Given the description of an element on the screen output the (x, y) to click on. 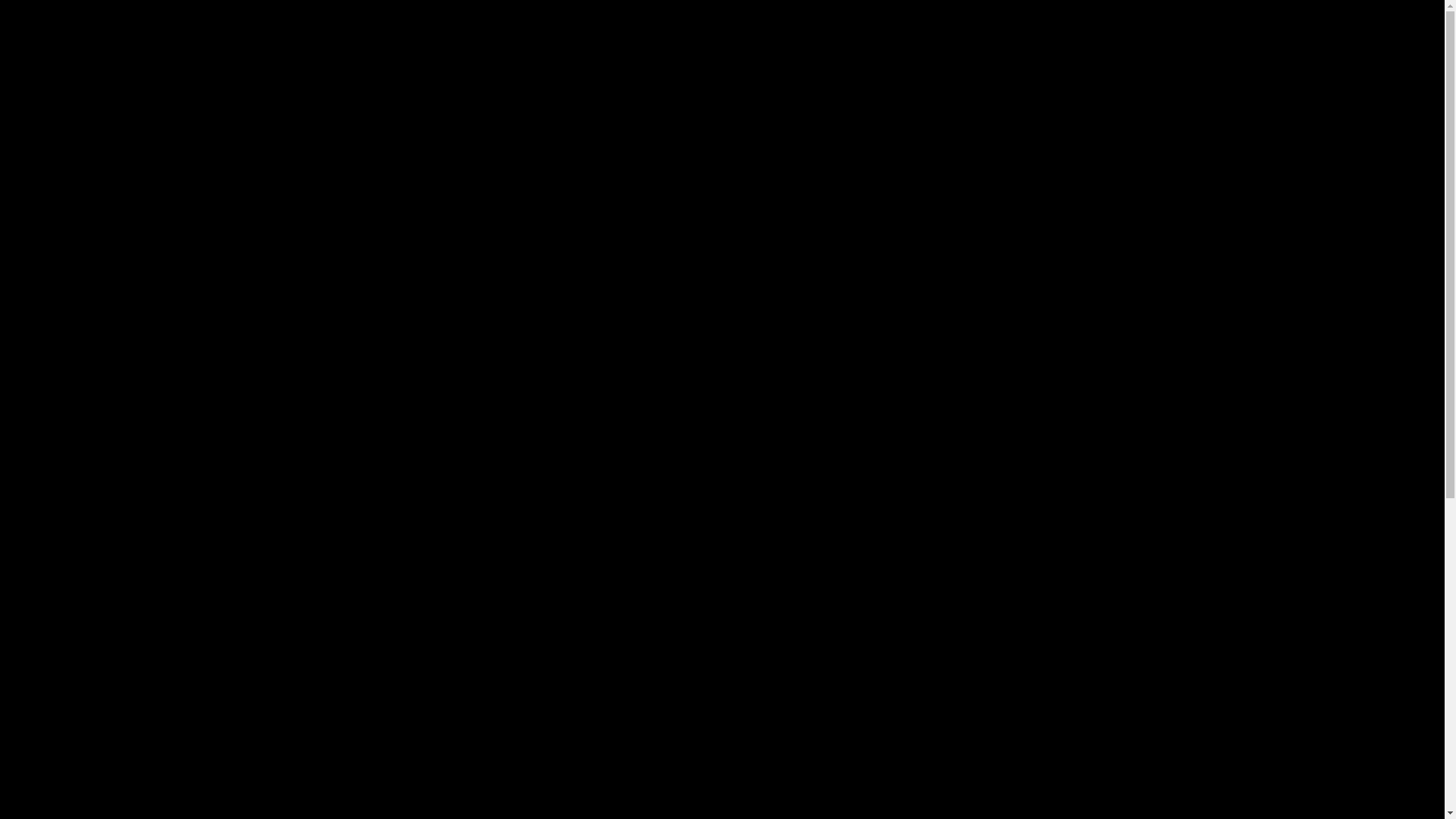
3020 Laguna St. In Exitum behind the scenes Element type: hover (480, 506)
3020 Laguna St. In Exitum behind the scenes Element type: hover (481, 506)
screenings Element type: text (814, 141)
3020 Laguna St. In Exitum behind the scenes Element type: hover (963, 340)
3020 Laguna St. In Exitum behind the scenes Element type: hover (480, 672)
Behind the Scenes Element type: text (766, 236)
3020 Laguna St. In Exitum behind the scenes Element type: hover (721, 672)
filmmakers Element type: text (569, 141)
3020 Laguna St. In Exitum Element type: text (722, 64)
3020 Laguna St. In Exitum behind the scenes Element type: hover (963, 672)
3020 Laguna St. In Exitum behind the scenes Element type: hover (721, 340)
3020 Laguna St. In Exitum behind the scenes Element type: hover (722, 672)
3020 Laguna St. In Exitum behind the scenes Element type: hover (721, 506)
Film Stills Element type: text (659, 236)
3020 Laguna St. In Exitum behind the scenes Element type: hover (480, 340)
3020 Laguna St. In Exitum behind the scenes Element type: hover (481, 672)
3020 Laguna St. In Exitum behind the scenes Element type: hover (963, 340)
press Element type: text (732, 141)
3020 Laguna St. In Exitum behind the scenes Element type: hover (481, 340)
about the film Element type: text (453, 141)
3020 Laguna St. In Exitum behind the scenes Element type: hover (963, 506)
3020 Laguna St. In Exitum behind the scenes Element type: hover (963, 672)
about the installation Element type: text (960, 141)
3020 Laguna St. In Exitum behind the scenes Element type: hover (722, 506)
3020 Laguna St. In Exitum behind the scenes Element type: hover (722, 340)
3020 Laguna St. In Exitum behind the scenes Element type: hover (963, 506)
gallery Element type: text (661, 141)
